Given the description of an element on the screen output the (x, y) to click on. 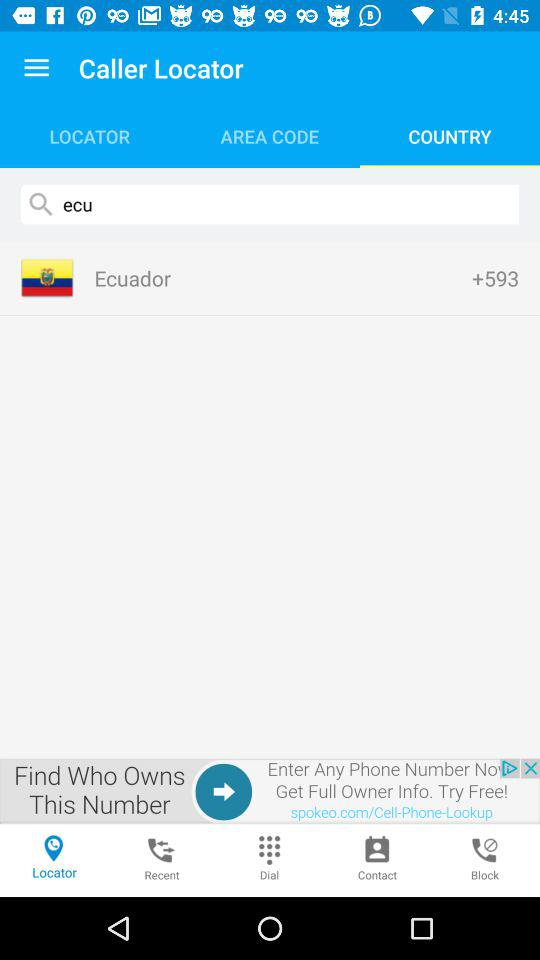
banner advertisement for spokeo (270, 791)
